Given the description of an element on the screen output the (x, y) to click on. 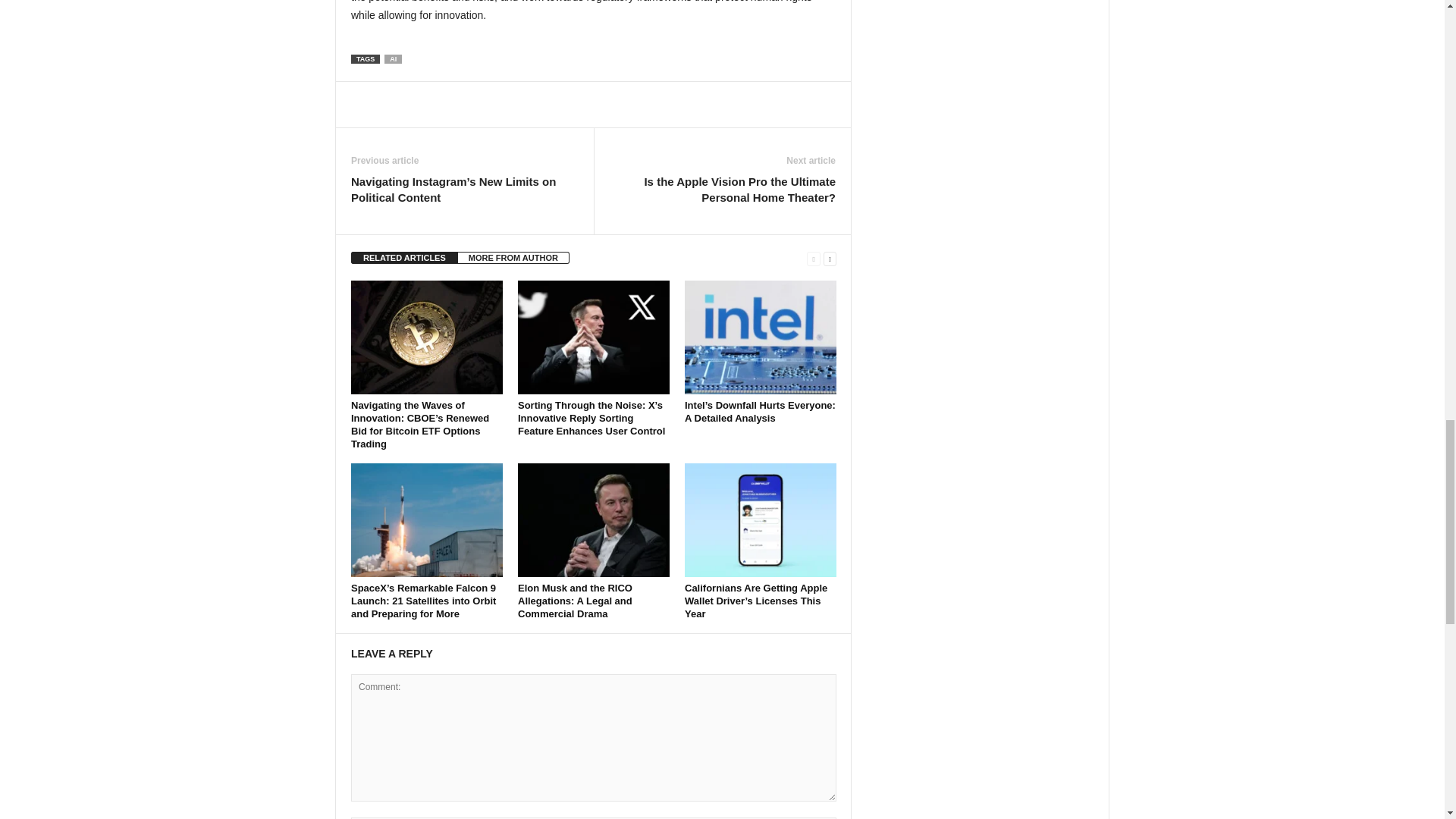
AI (392, 58)
RELATED ARTICLES (404, 257)
MORE FROM AUTHOR (513, 257)
Is the Apple Vision Pro the Ultimate Personal Home Theater? (721, 189)
